Given the description of an element on the screen output the (x, y) to click on. 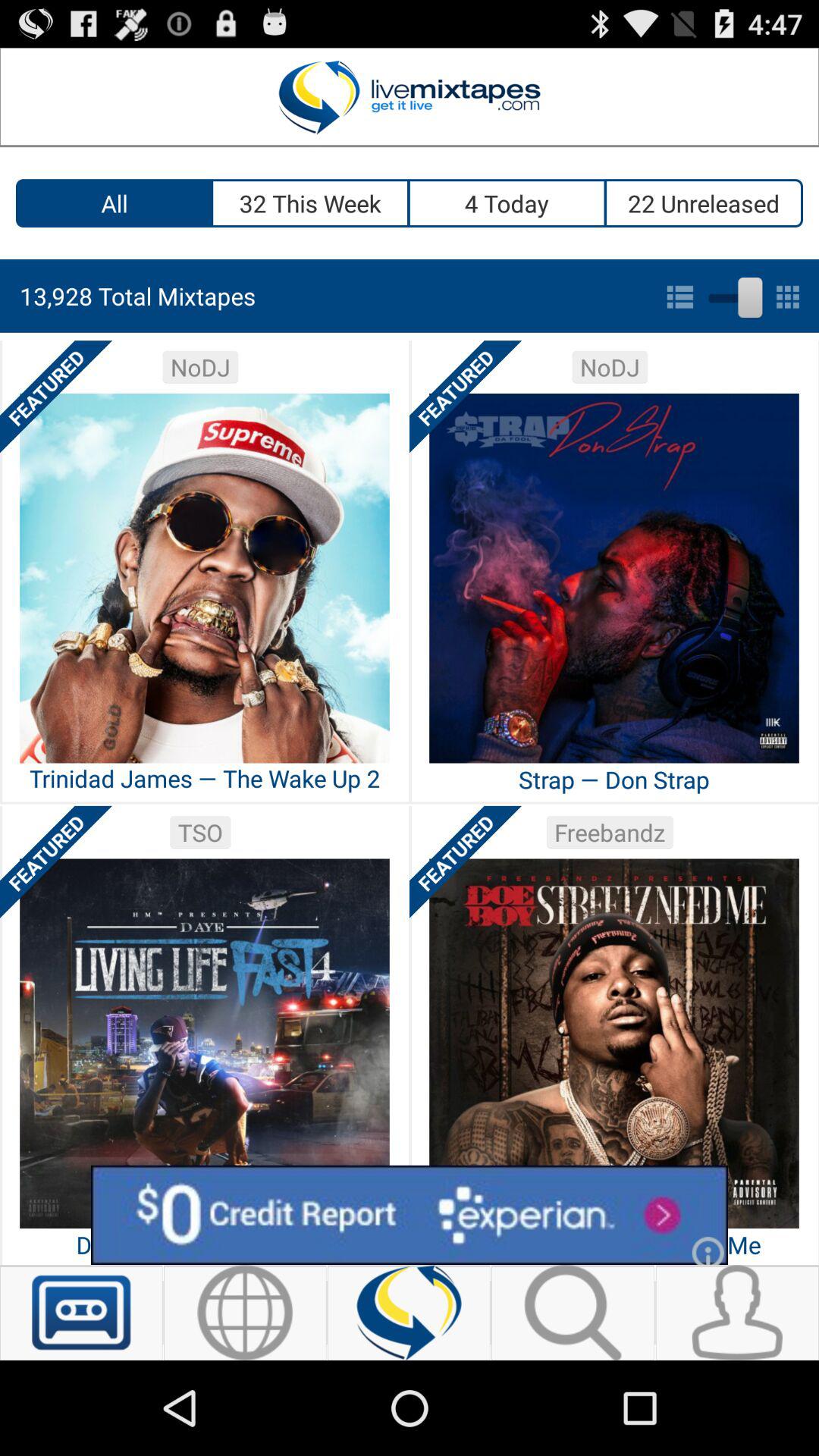
tap 22 unreleased icon (704, 203)
